Given the description of an element on the screen output the (x, y) to click on. 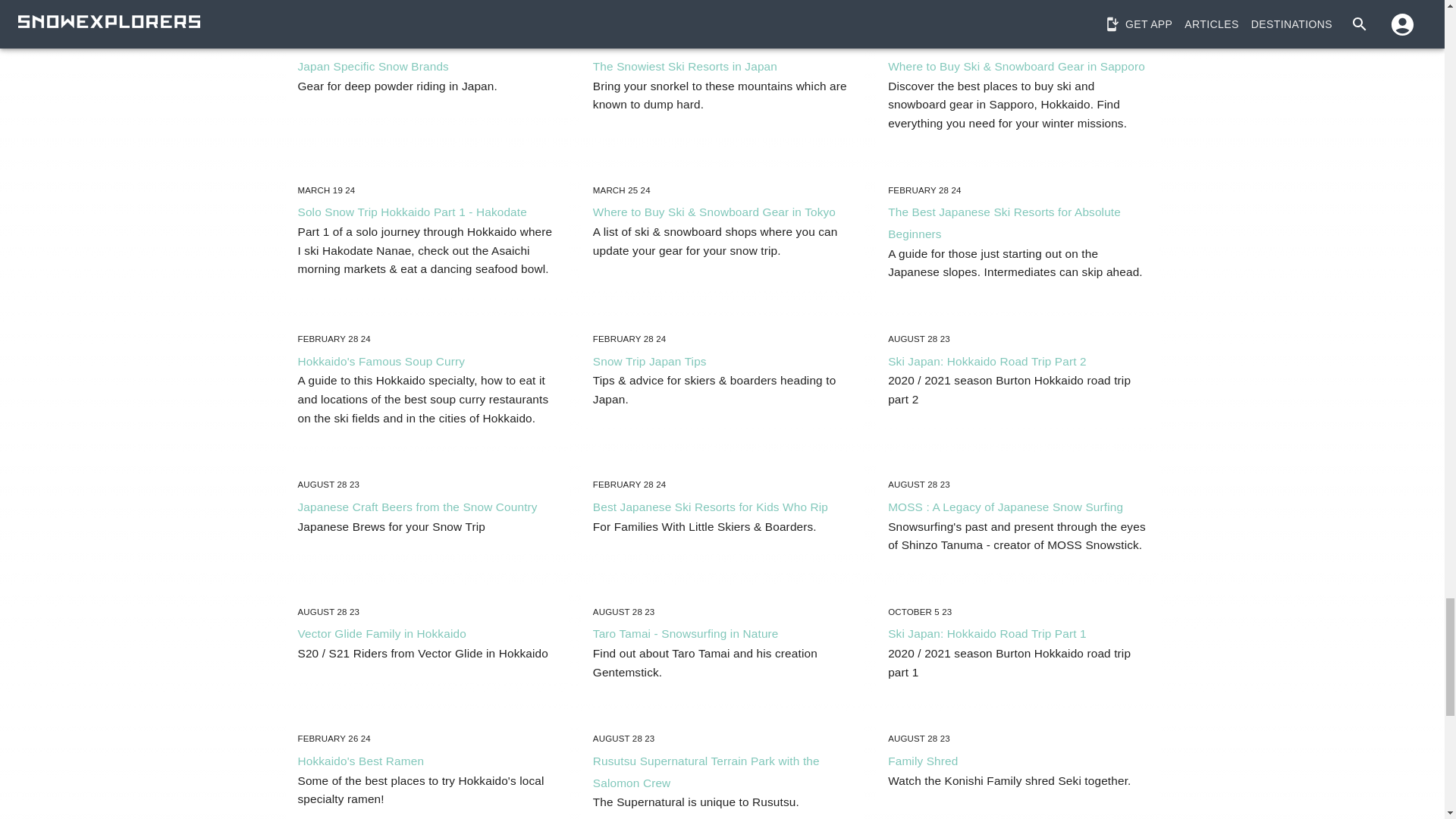
The Snowiest Ski Resorts in Japan (684, 65)
Ski Japan: Hokkaido Road Trip Part 2 (987, 360)
The Best Japanese Ski Resorts for Absolute Beginners (1004, 222)
Hokkaido's Famous Soup Curry (380, 360)
Snow Trip Japan Tips (649, 360)
The Snowiest Ski Resorts in Japan (684, 65)
Solo Snow Trip Hokkaido Part 1 - Hakodate (411, 211)
Solo Snow Trip Hokkaido Part 1 - Hakodate (411, 211)
Japan Specific Snow Brands (372, 65)
Hokkaido's Famous Soup Curry (380, 360)
The Best Japanese Ski Resorts for Absolute Beginners (1004, 222)
Ski Japan: Hokkaido Road Trip Part 2 (987, 360)
Snow Trip Japan Tips (649, 360)
Japan Specific Snow Brands (372, 65)
Japanese Craft Beers from the Snow Country (417, 506)
